Given the description of an element on the screen output the (x, y) to click on. 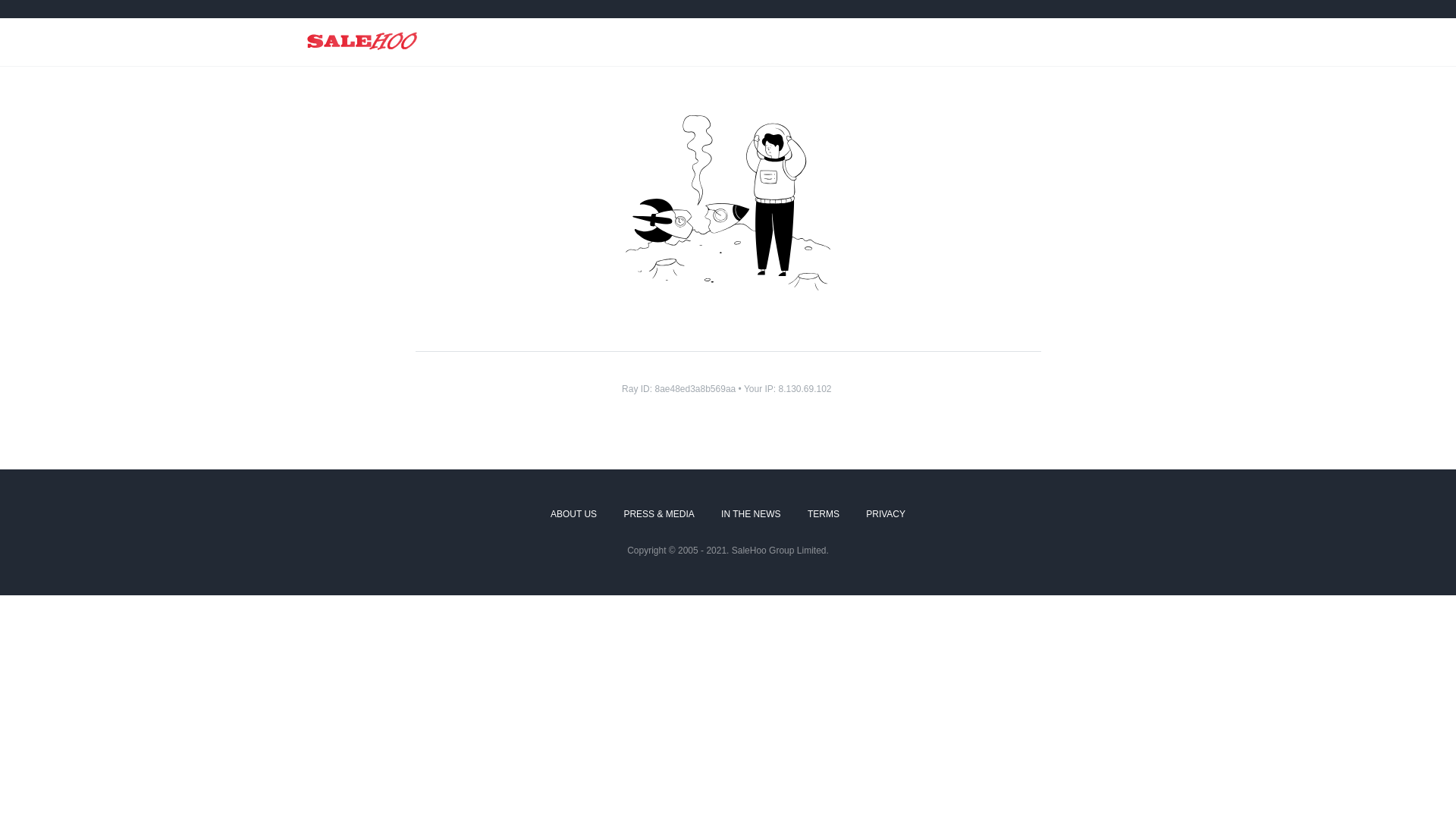
PRIVACY (885, 514)
ABOUT US (573, 514)
IN THE NEWS (750, 514)
TERMS (824, 514)
